Given the description of an element on the screen output the (x, y) to click on. 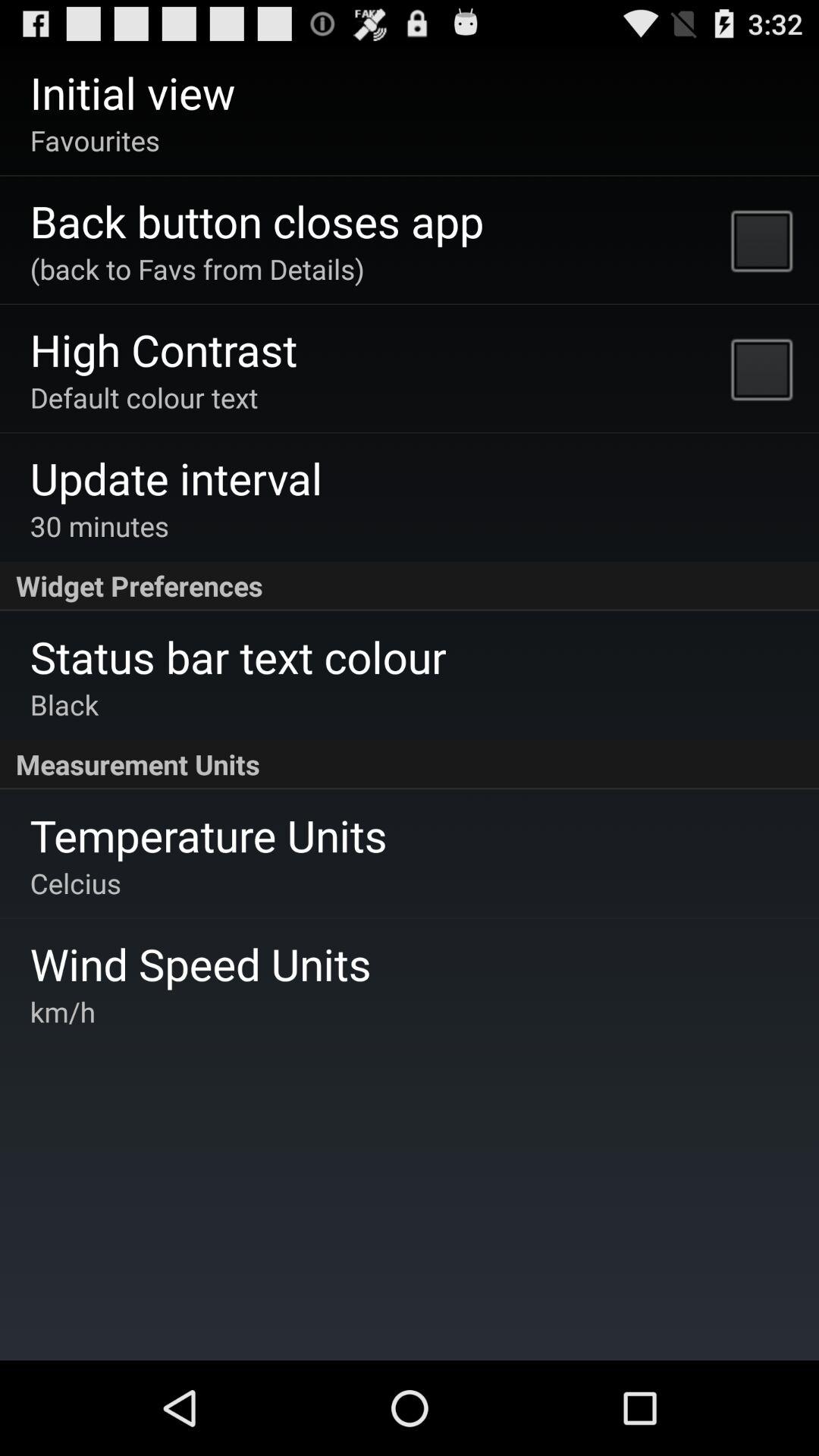
turn on the back to favs icon (197, 268)
